Given the description of an element on the screen output the (x, y) to click on. 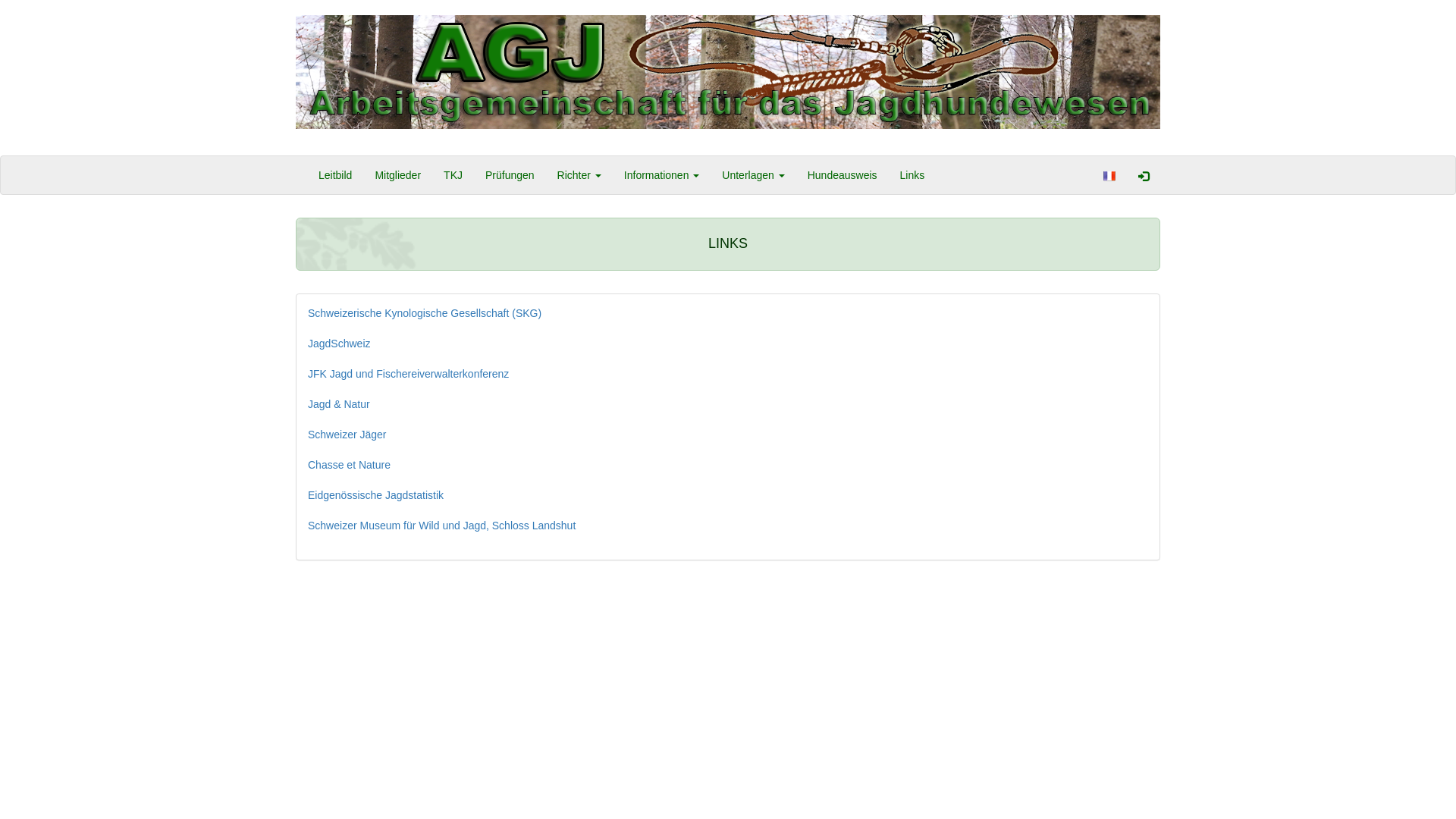
Informationen Element type: text (661, 175)
Mitglieder Element type: text (397, 175)
TKJ Element type: text (452, 175)
Hundeausweis Element type: text (842, 175)
Leitbild Element type: text (335, 175)
Unterlagen Element type: text (752, 175)
Jagd & Natur Element type: text (338, 404)
Schweizerische Kynologische Gesellschaft (SKG) Element type: text (424, 313)
Chasse et Nature Element type: text (348, 464)
Links Element type: text (912, 175)
Login Element type: hover (1143, 175)
Richter Element type: text (579, 175)
JagdSchweiz Element type: text (338, 343)
JFK Jagd und Fischereiverwalterkonferenz Element type: text (407, 373)
